Given the description of an element on the screen output the (x, y) to click on. 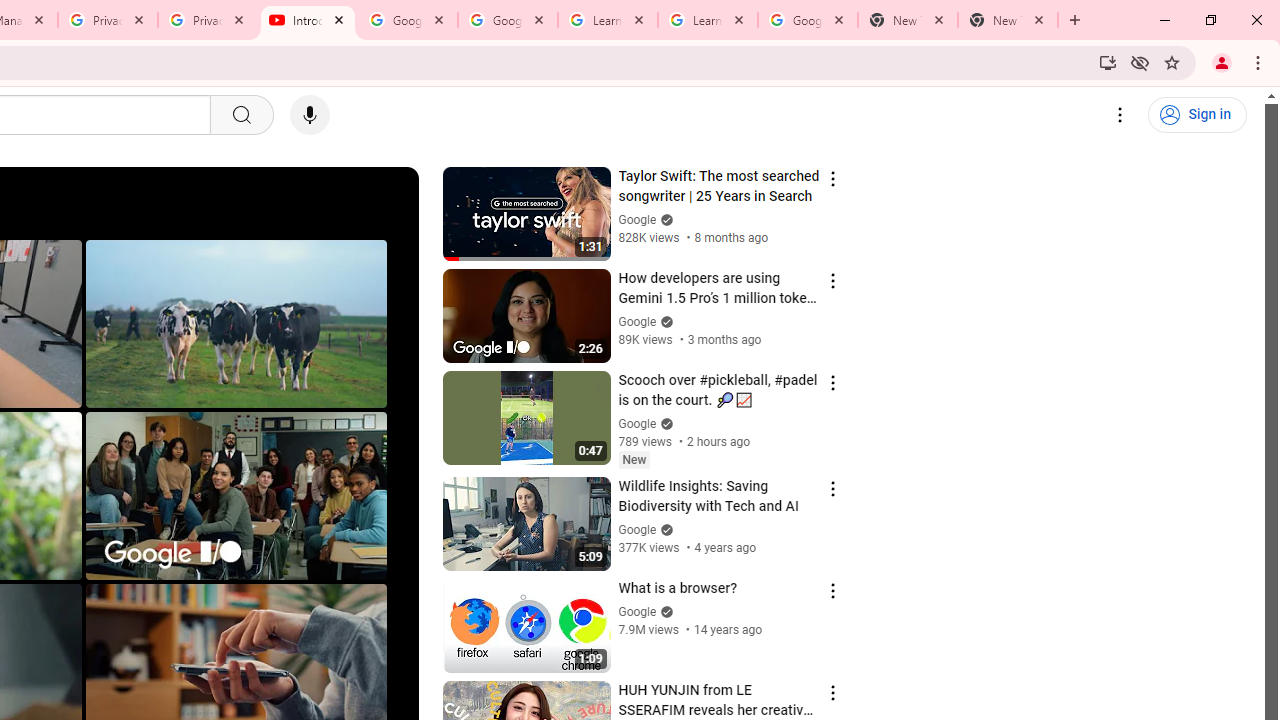
Action menu (832, 692)
Introduction | Google Privacy Policy - YouTube (308, 20)
Install YouTube (1107, 62)
Google Account (807, 20)
New (634, 459)
Verified (664, 611)
